Given the description of an element on the screen output the (x, y) to click on. 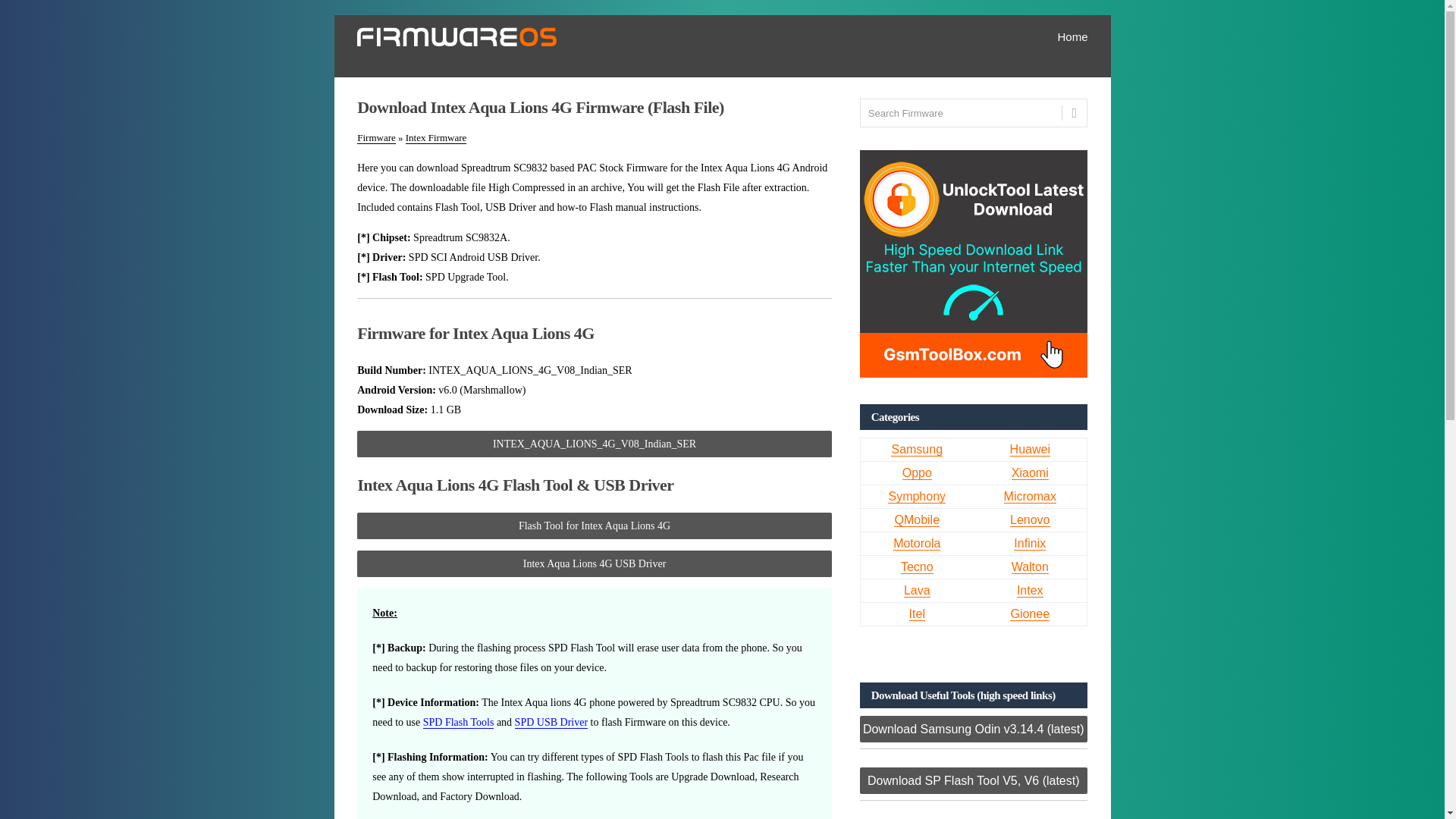
Symphony (916, 496)
Lenovo (1029, 520)
Samsung (916, 449)
Intex (1029, 590)
Itel (916, 613)
Search Firmware (973, 112)
Micromax (1030, 496)
QMobile (916, 520)
Xiaomi (1029, 472)
Gionee (1029, 613)
